Given the description of an element on the screen output the (x, y) to click on. 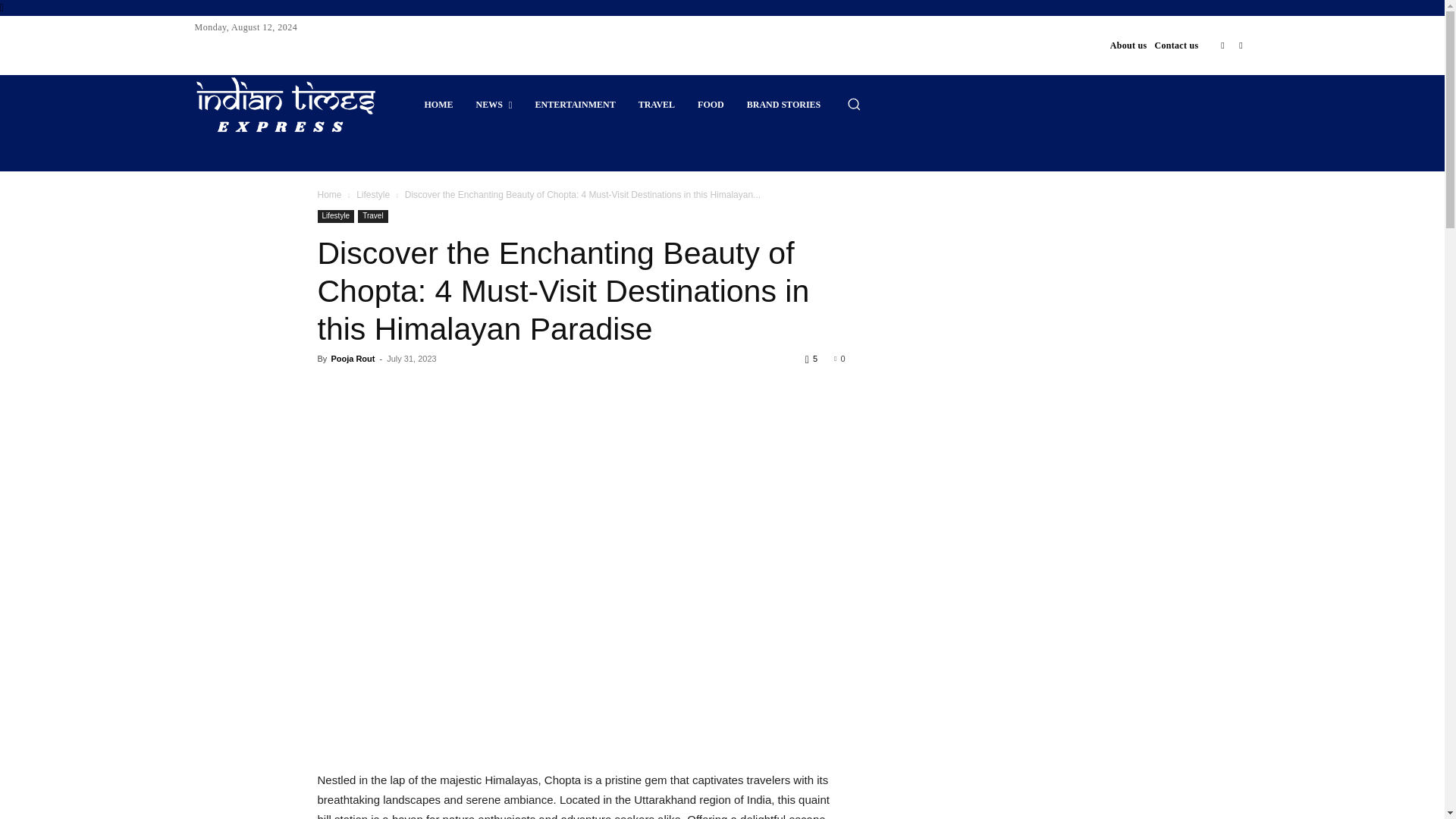
HOME (438, 104)
NEWS (493, 104)
About us (1128, 45)
ENTERTAINMENT (575, 104)
Contact us (1176, 45)
TRAVEL (656, 104)
Facebook (1221, 45)
Instagram (1240, 45)
